Given the description of an element on the screen output the (x, y) to click on. 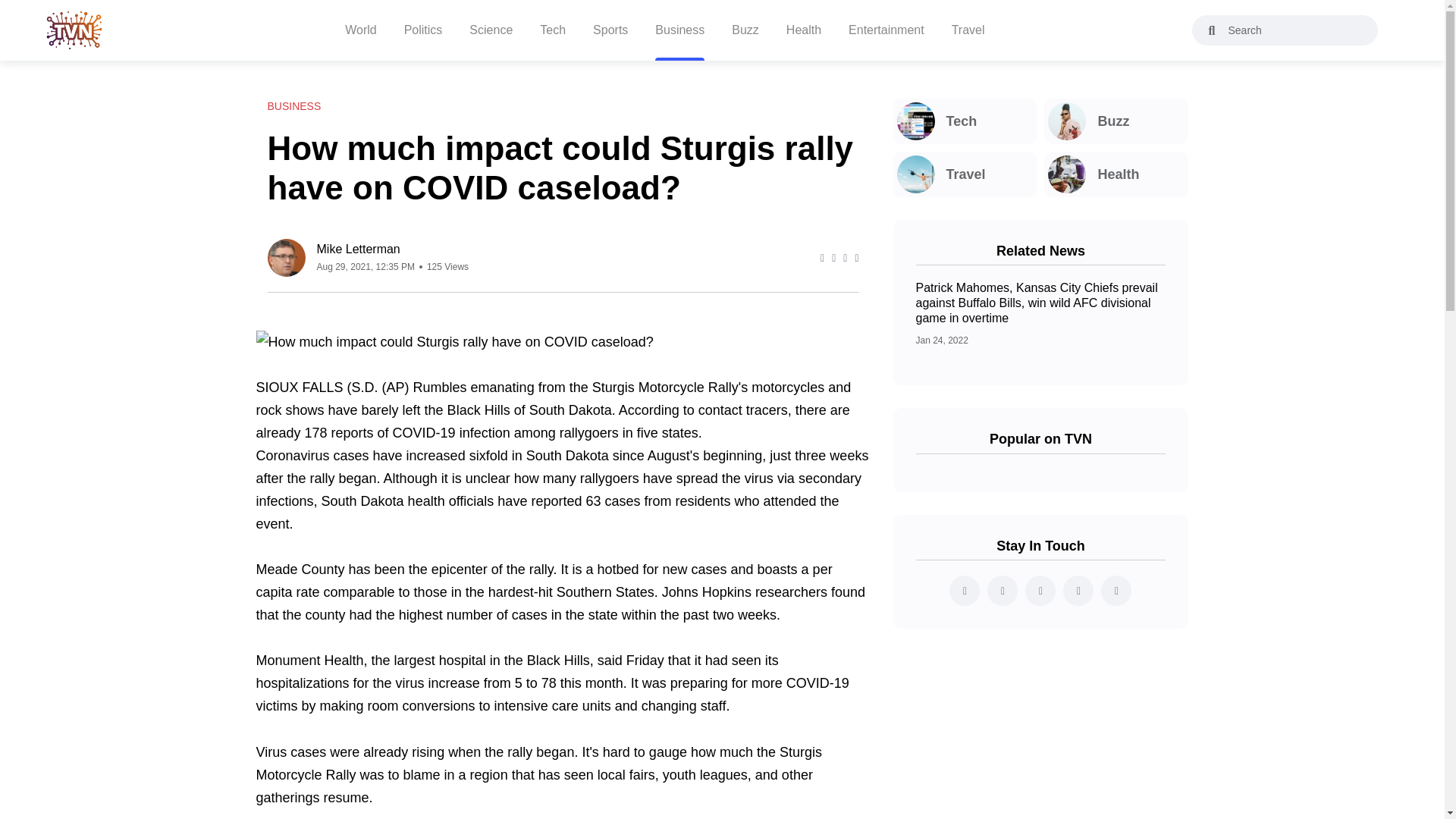
BUSINESS (293, 105)
Travel (964, 174)
Entertainment (886, 30)
Tech (964, 121)
Mike Letterman (392, 249)
Buzz (1115, 121)
Health (1115, 174)
